Given the description of an element on the screen output the (x, y) to click on. 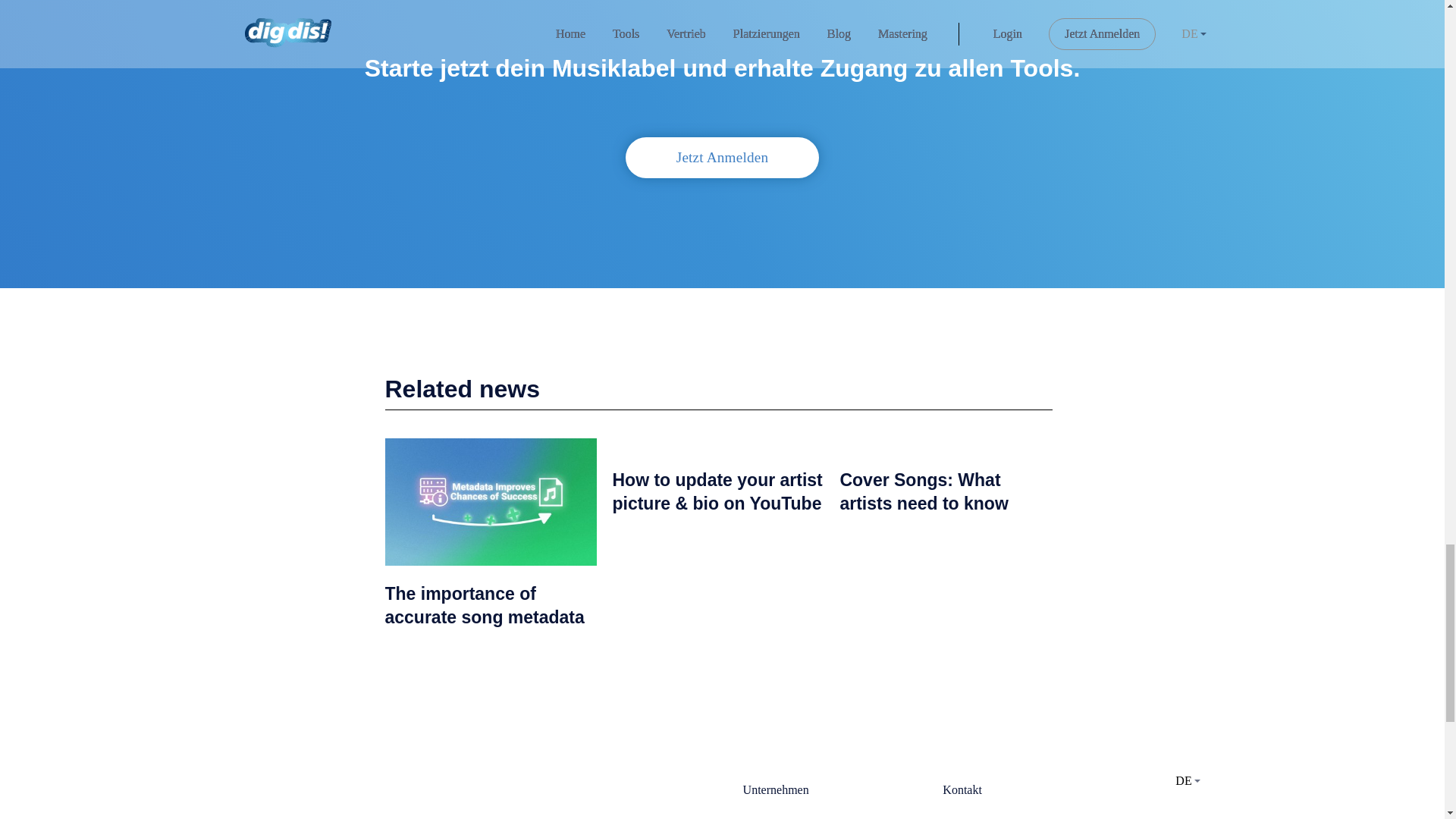
The importance of accurate song metadata (490, 504)
Jetzt Anmelden (721, 157)
The importance of accurate song metadata (485, 604)
Cover Songs: What artists need to know (923, 491)
Cover Songs: What artists need to know (923, 491)
The importance of accurate song metadata (485, 604)
Cover Songs: What artists need to know (945, 447)
